Given the description of an element on the screen output the (x, y) to click on. 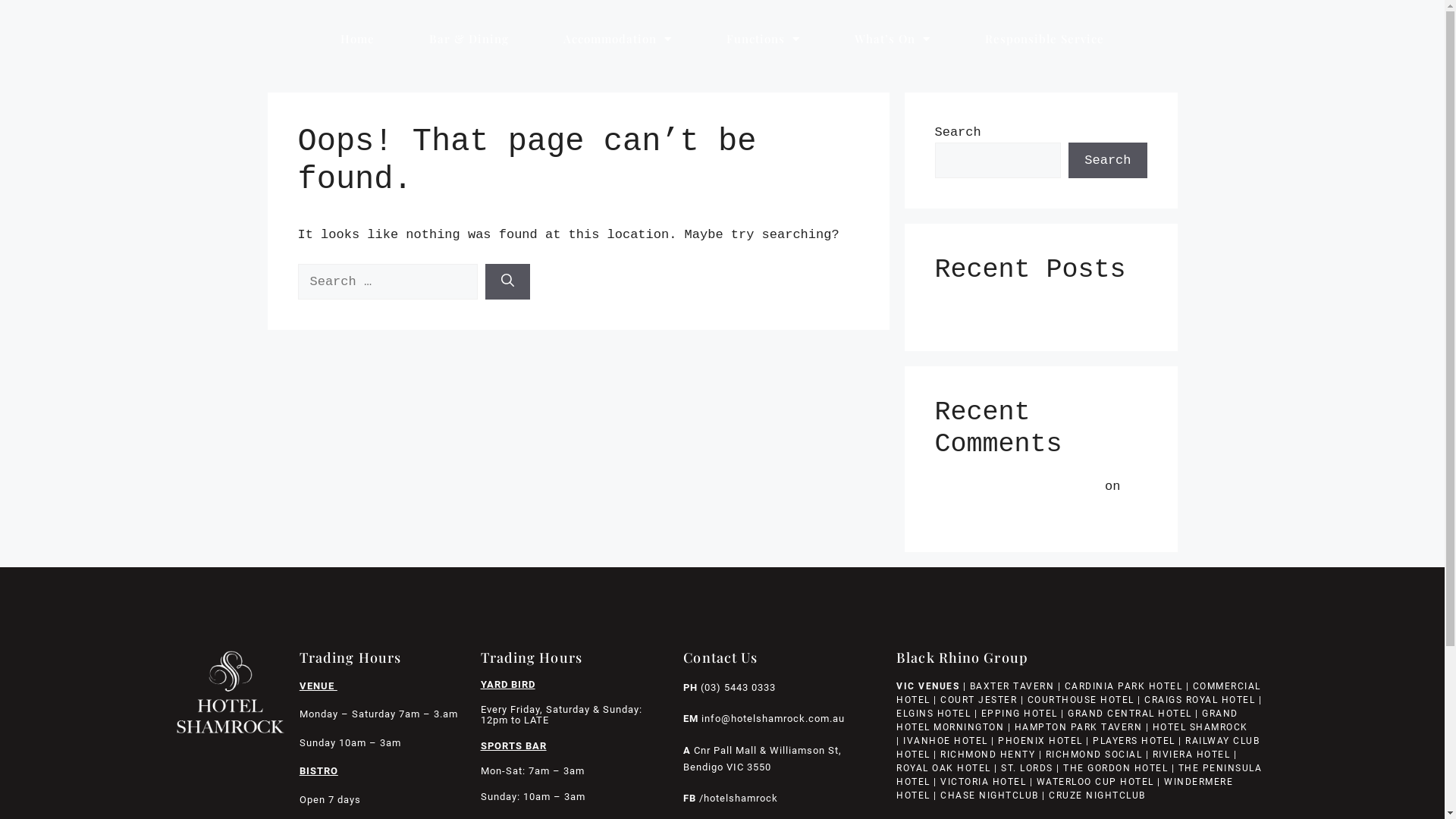
HOTEL SHAMROCK Element type: text (1200, 726)
Hello world! Element type: text (980, 310)
CRUZE NIGHTCLUB  Element type: text (1098, 795)
RIVIERA HOTEL Element type: text (1191, 754)
RICHMOND HENTY Element type: text (987, 754)
COMMERCIAL HOTEL Element type: text (1078, 692)
IVANHOE HOTEL Element type: text (945, 740)
Functions Element type: text (763, 38)
COURTHOUSE HOTEL Element type: text (1080, 699)
ELGINS HOTEL Element type: text (933, 713)
WATERLOO CUP HOTEL Element type: text (1095, 781)
PLAYERS HOTEL Element type: text (1133, 740)
COURT JESTER Element type: text (978, 699)
Accommodation Element type: text (617, 38)
THE PENINSULA HOTEL Element type: text (1078, 774)
BAXTER TAVERN Element type: text (1011, 685)
VICTORIA HOTEL Element type: text (983, 781)
GRAND HOTEL MORNINGTON Element type: text (1067, 720)
WINDERMERE HOTEL Element type: text (1064, 788)
PHOENIX HOTEL Element type: text (1039, 740)
CHASE NIGHTCLUB Element type: text (989, 795)
Home Element type: text (357, 38)
Search Element type: text (1107, 160)
HAMPTON PARK TAVERN Element type: text (1078, 726)
Search for: Element type: hover (386, 281)
EPPING HOTEL Element type: text (1019, 713)
ST. LORDS Element type: text (1027, 767)
CRAIGS ROYAL HOTEL Element type: text (1199, 699)
GRAND CENTRAL HOTEL Element type: text (1129, 713)
RICHMOND SOCIAL Element type: text (1093, 754)
ROYAL OAK HOTEL Element type: text (943, 767)
Hello world! Element type: text (980, 509)
Bar & Dining Element type: text (468, 38)
Responsible Service Element type: text (1044, 38)
CARDINIA PARK HOTEL Element type: text (1123, 685)
THE GORDON HOTEL Element type: text (1115, 767)
RAILWAY CLUB HOTEL Element type: text (1077, 747)
A WordPress Commenter Element type: text (1015, 486)
